Given the description of an element on the screen output the (x, y) to click on. 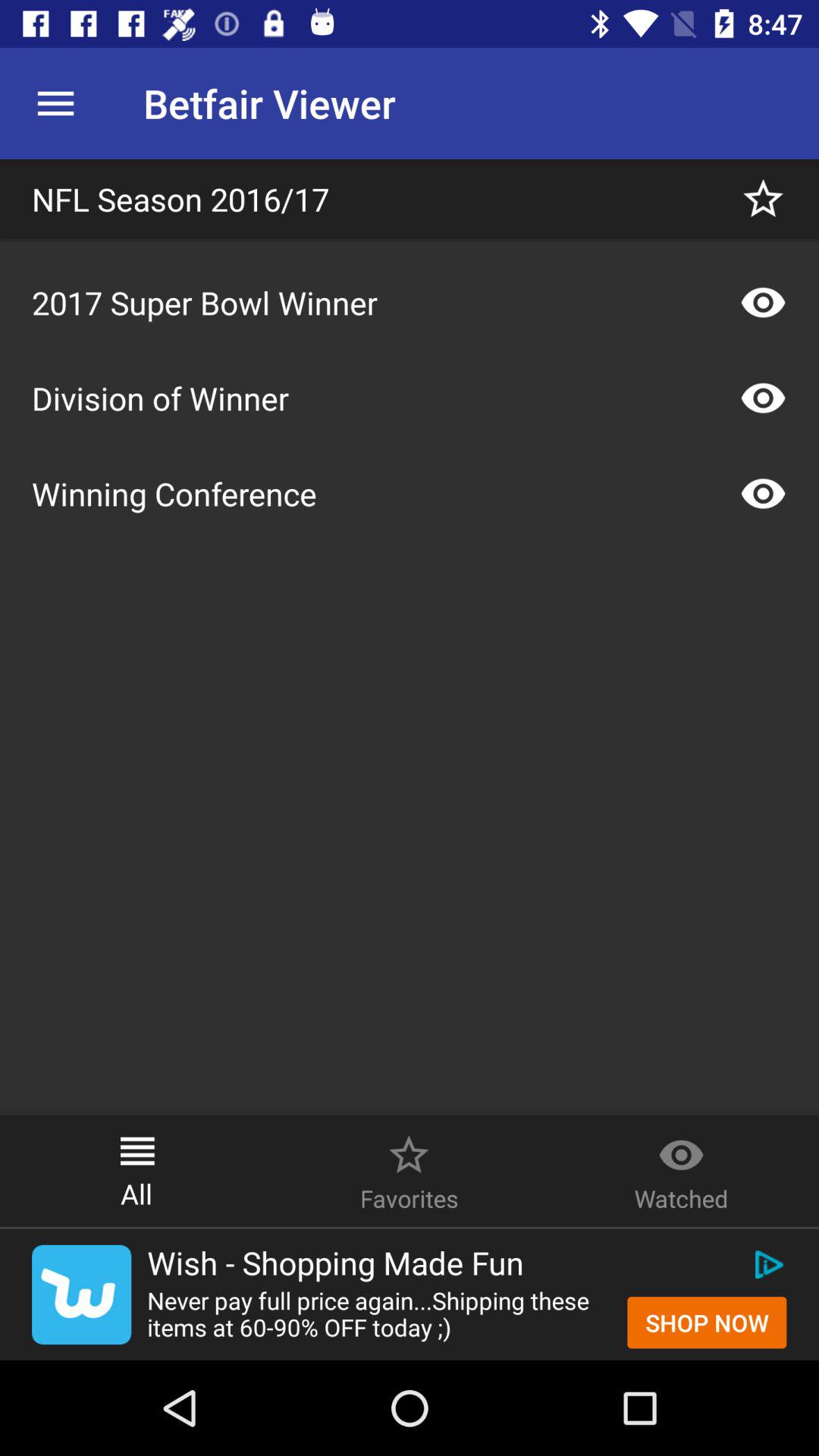
the blue colored logo at the bottom left corner of the page (81, 1293)
click the button on the bottom right corner of the web page (706, 1321)
select the image and text right to all at the bottom of the page (408, 1171)
click on the icon on the right side of division of winner (763, 397)
the blue colored icon above shop now at the bottom right corner (767, 1264)
click on star symbol beside nfl season 201617 on top right of the web page (763, 198)
click on seen icon above watched (681, 1147)
click on the icon above shop now (767, 1264)
click the watched option on the bottom right (681, 1147)
click the show icon right to winning conference (763, 493)
